Given the description of an element on the screen output the (x, y) to click on. 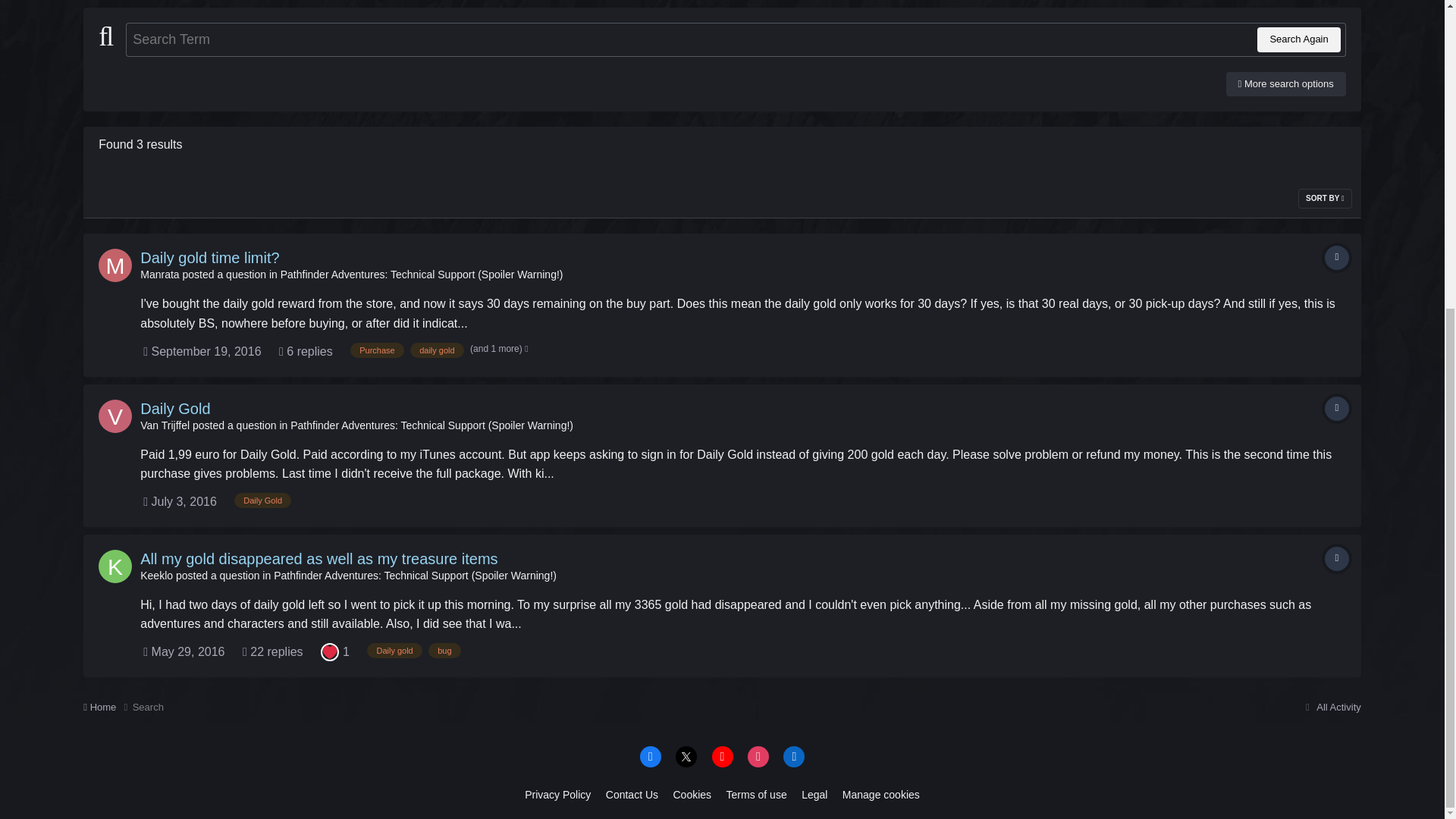
Go to Keeklo's profile (115, 566)
Find other content tagged with 'Daily Gold' (262, 500)
Topic (1336, 558)
Find other content tagged with 'daily gold' (436, 350)
Find other content tagged with 'Purchase' (376, 350)
Topic (1336, 408)
Go to Manrata's profile (159, 274)
Go to Van Trijffel's profile (115, 416)
Topic (1336, 257)
Go to Manrata's profile (115, 264)
Go to Van Trijffel's profile (164, 425)
